Given the description of an element on the screen output the (x, y) to click on. 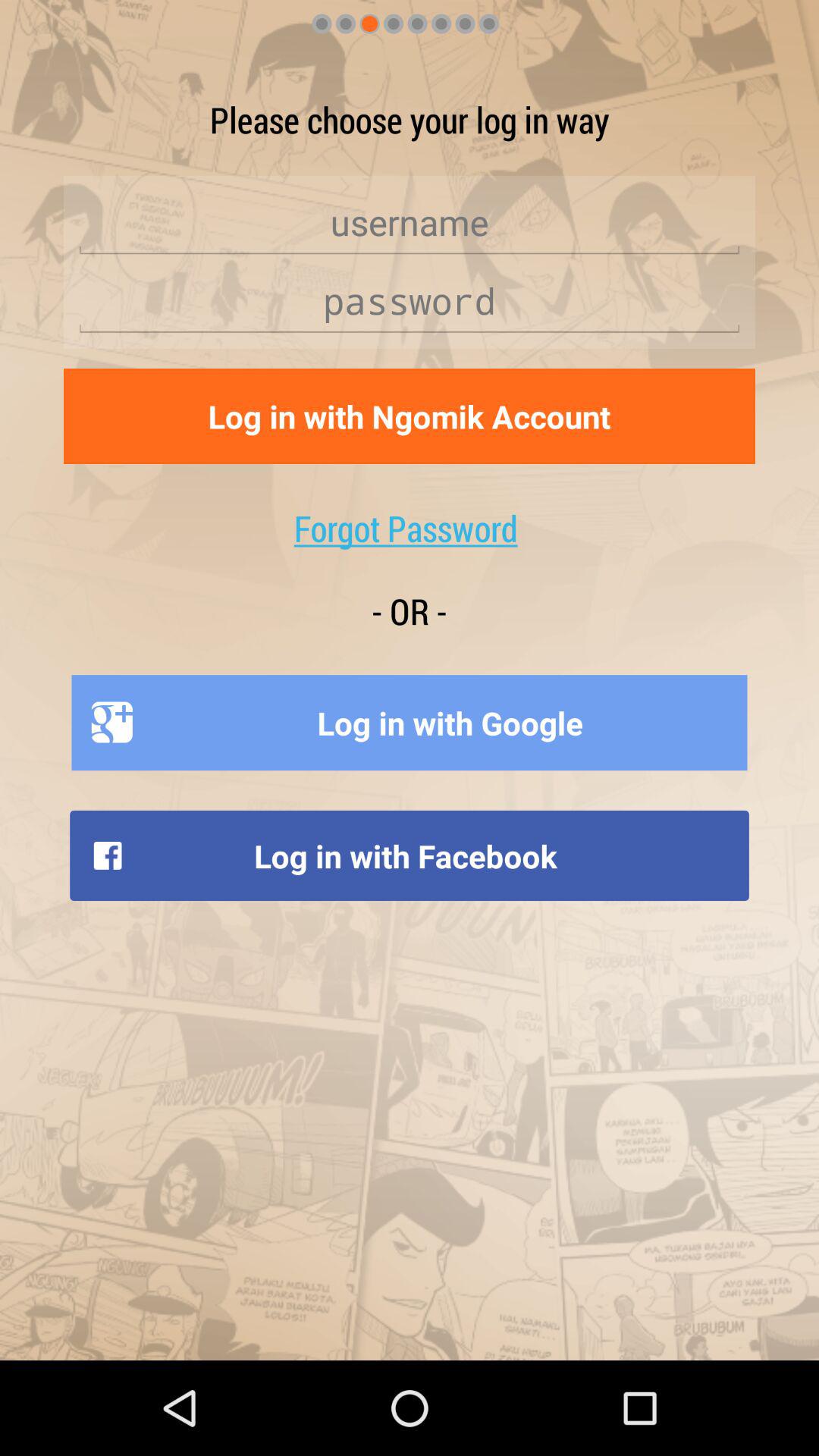
go to password page (409, 301)
